Given the description of an element on the screen output the (x, y) to click on. 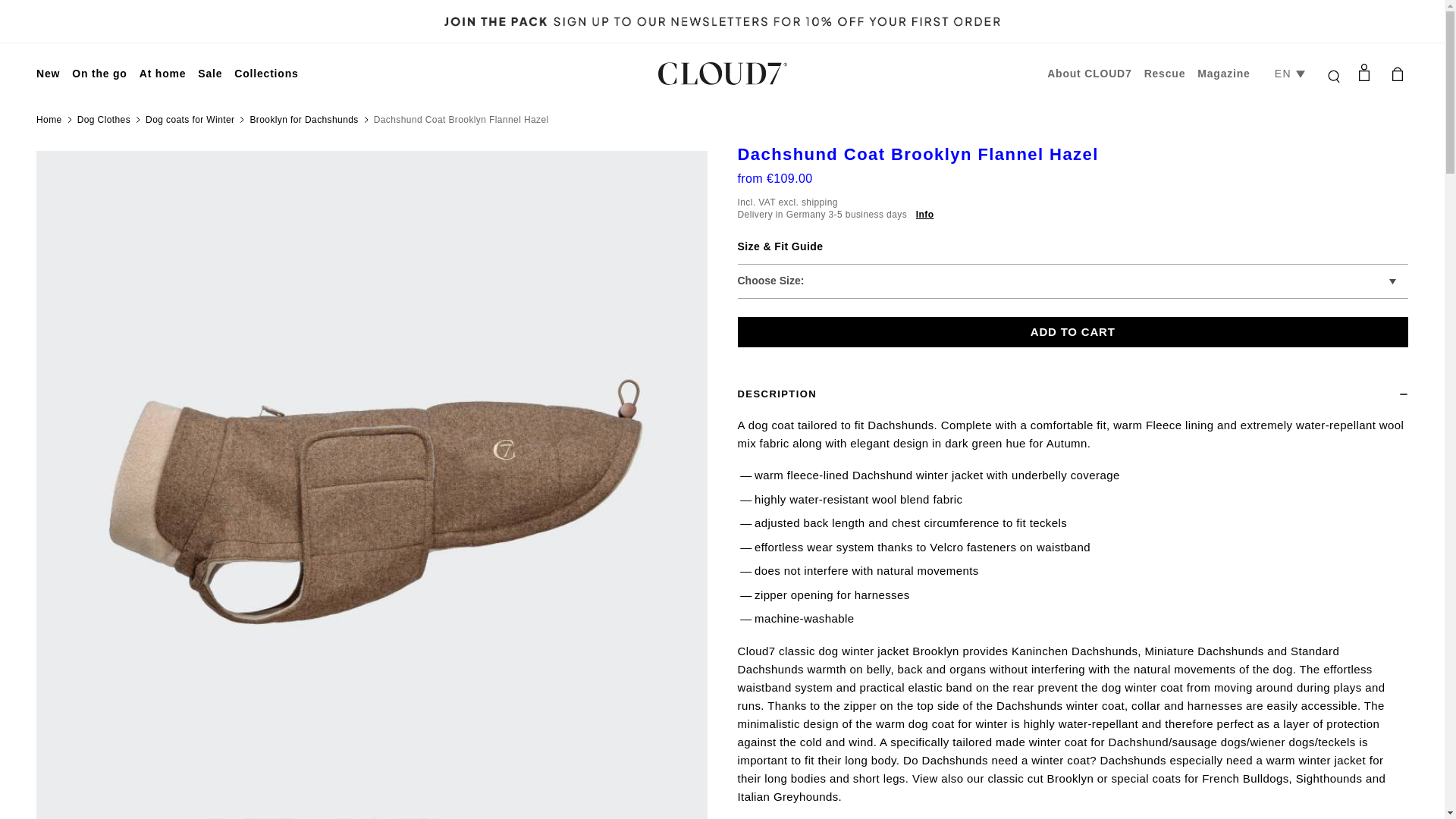
Add to Cart (1071, 332)
On the go (99, 73)
Go to Home Page (49, 119)
